Given the description of an element on the screen output the (x, y) to click on. 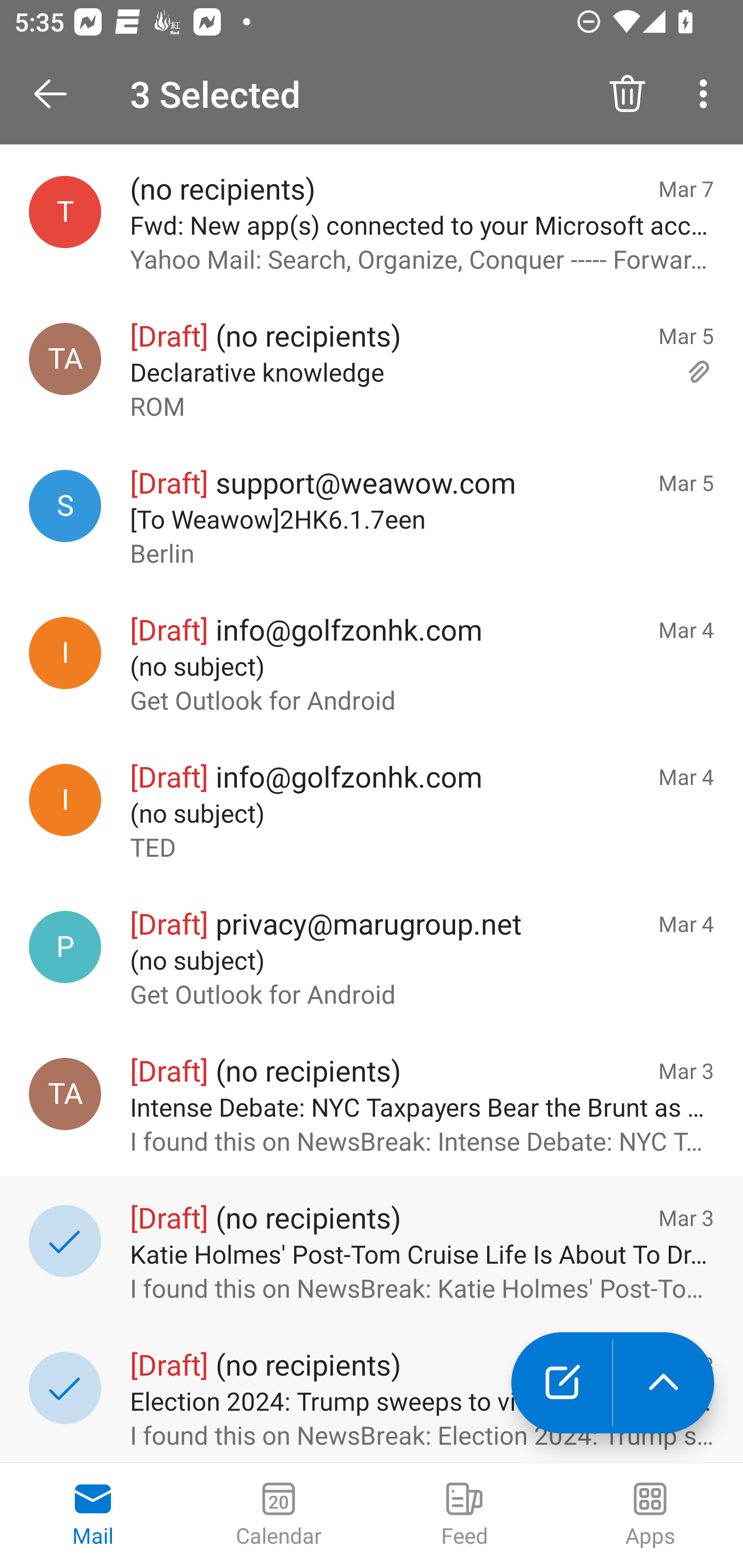
Delete (626, 93)
More options (706, 93)
Open Navigation Drawer (57, 94)
testappium002@outlook.com (64, 211)
Test Appium, testappium002@outlook.com (64, 359)
support@weawow.com (64, 506)
info@golfzonhk.com (64, 652)
info@golfzonhk.com (64, 799)
privacy@marugroup.net (64, 947)
Test Appium, testappium002@outlook.com (64, 1094)
New mail (561, 1382)
launch the extended action menu (663, 1382)
Calendar (278, 1515)
Feed (464, 1515)
Apps (650, 1515)
